Given the description of an element on the screen output the (x, y) to click on. 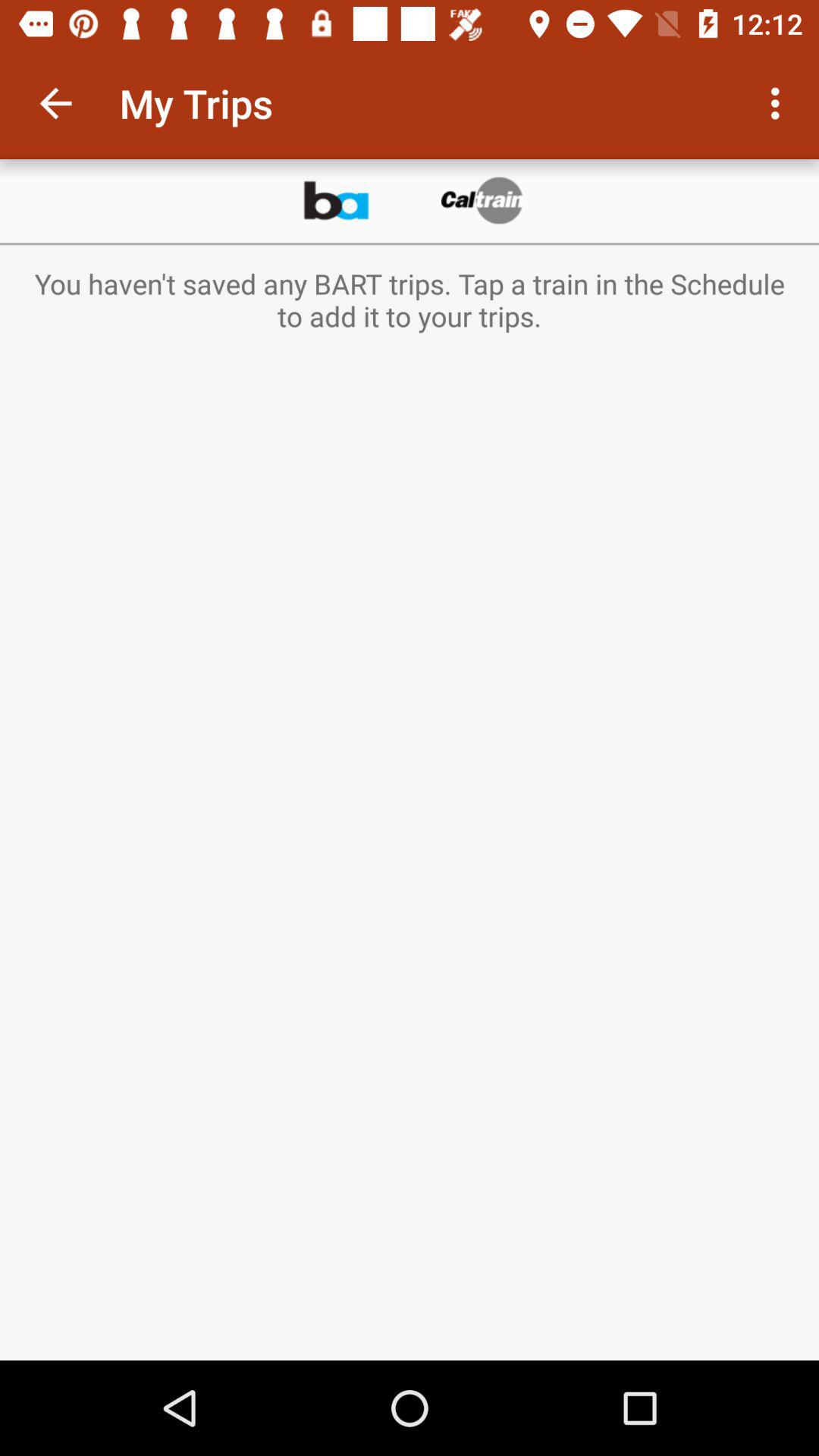
click app below the my trips icon (335, 200)
